Given the description of an element on the screen output the (x, y) to click on. 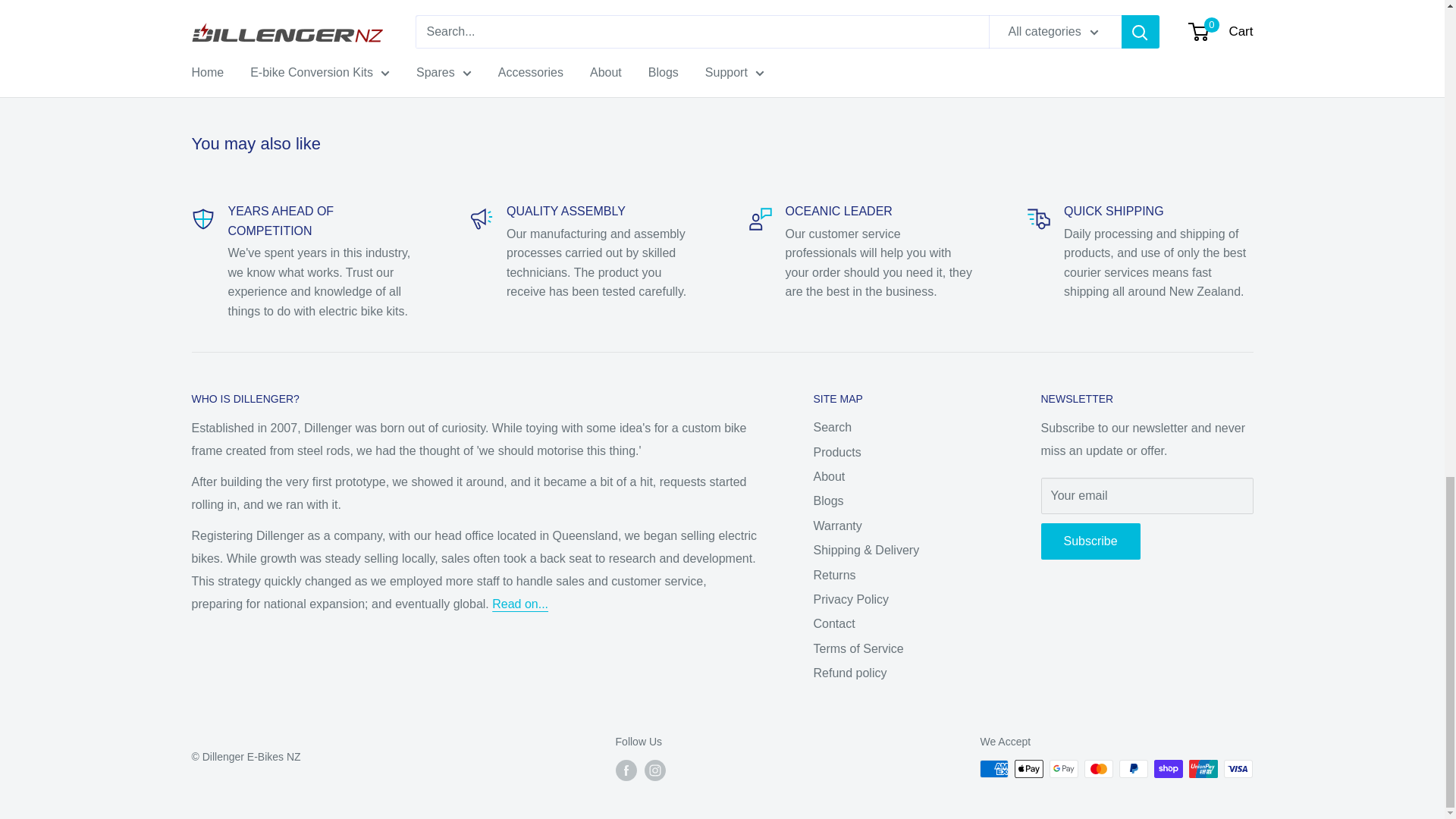
About Us (520, 603)
